Given the description of an element on the screen output the (x, y) to click on. 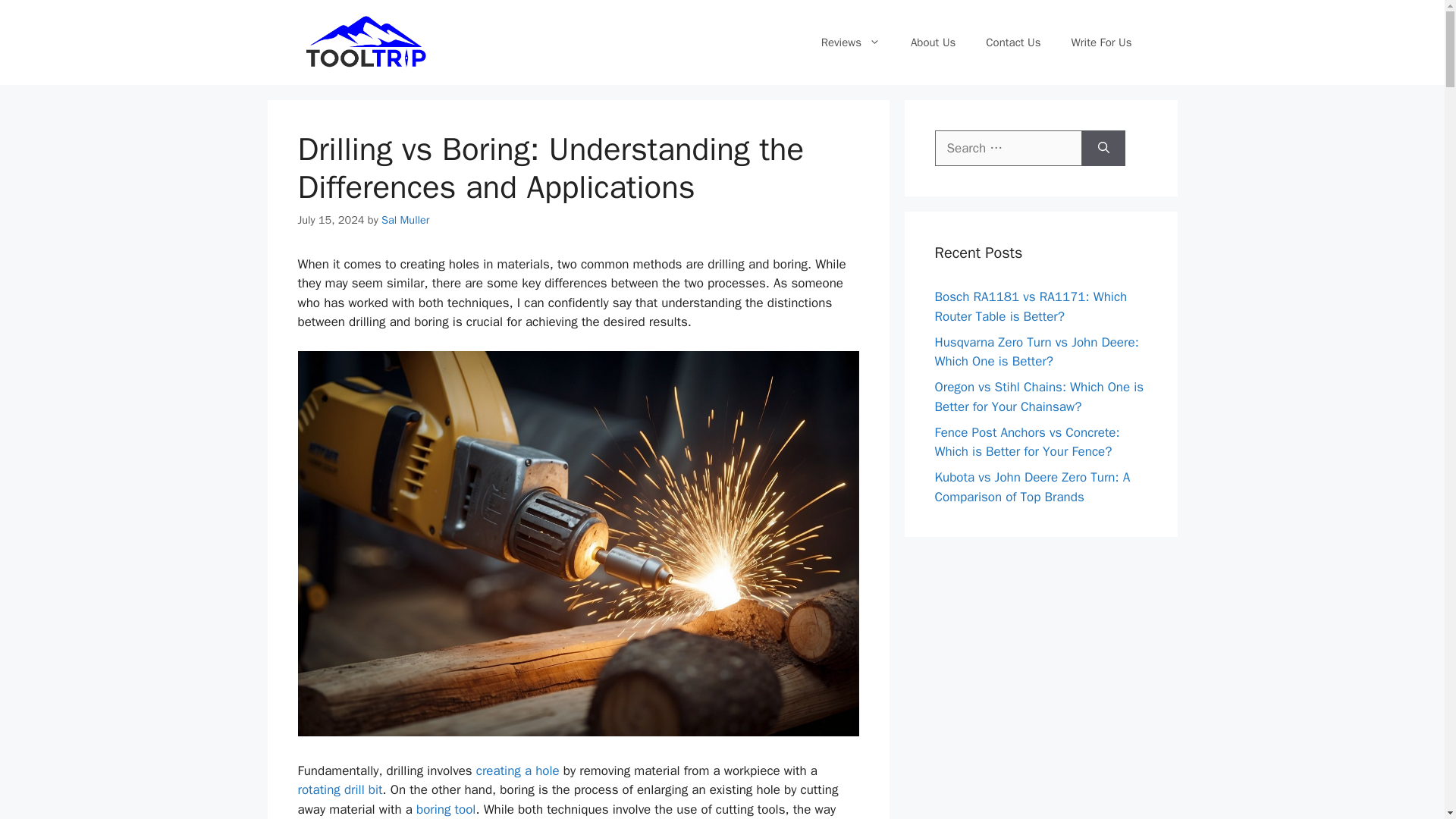
Tool Trip (365, 42)
rotating drill bit (339, 789)
View all posts by Sal Muller (405, 219)
Reviews (850, 42)
creating a hole (517, 770)
Write For Us (1101, 42)
Tool Trip (365, 41)
About Us (933, 42)
Sal Muller (405, 219)
boring tool (446, 809)
